Given the description of an element on the screen output the (x, y) to click on. 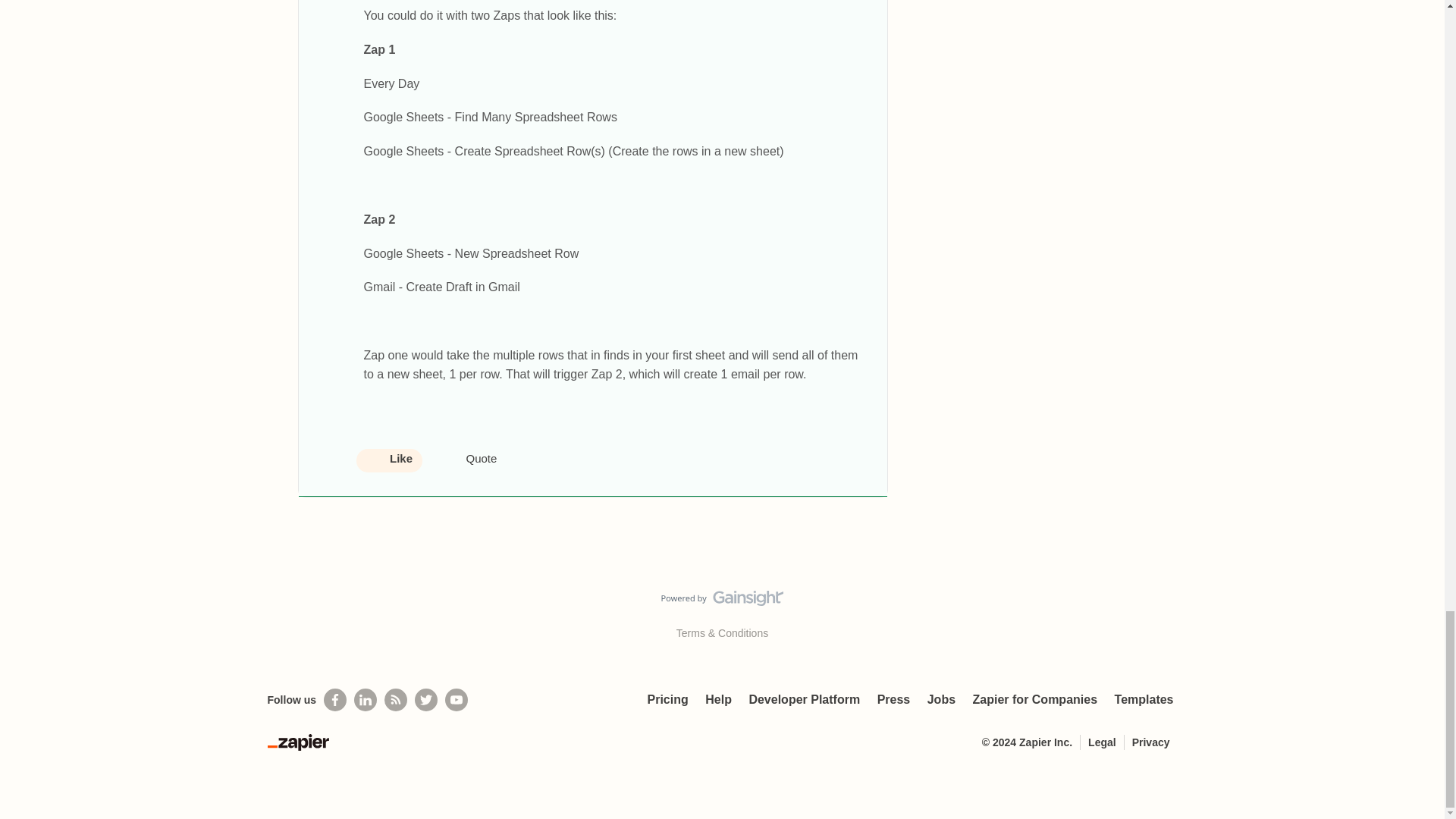
Follow us on LinkedIn (365, 699)
Visit Gainsight.com (722, 601)
See helpful Zapier videos on Youtube (456, 699)
Subscribe to our blog (395, 699)
Follow us on Facebook (334, 699)
